Given the description of an element on the screen output the (x, y) to click on. 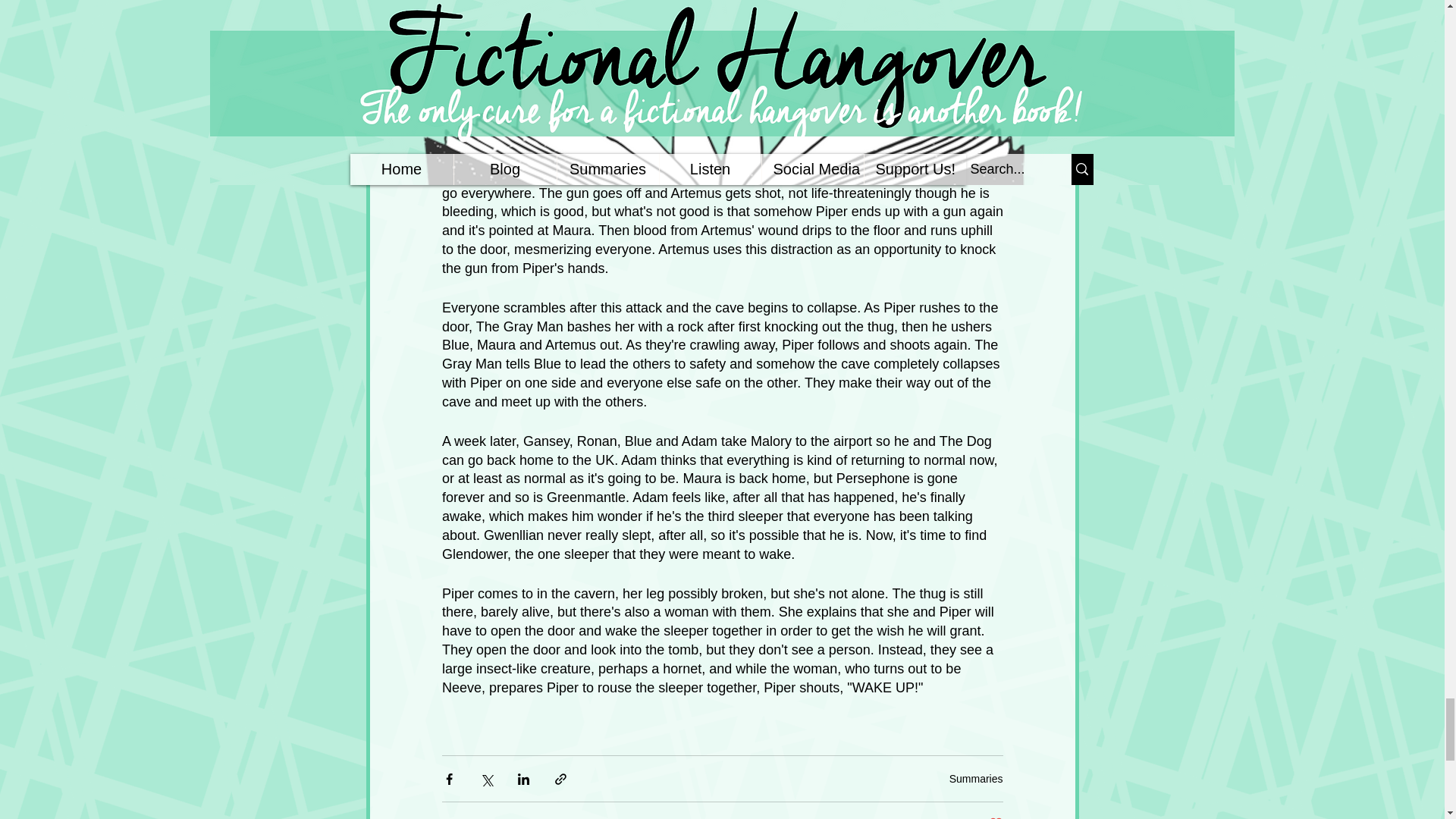
Post not marked as liked (995, 817)
Summaries (976, 778)
